Given the description of an element on the screen output the (x, y) to click on. 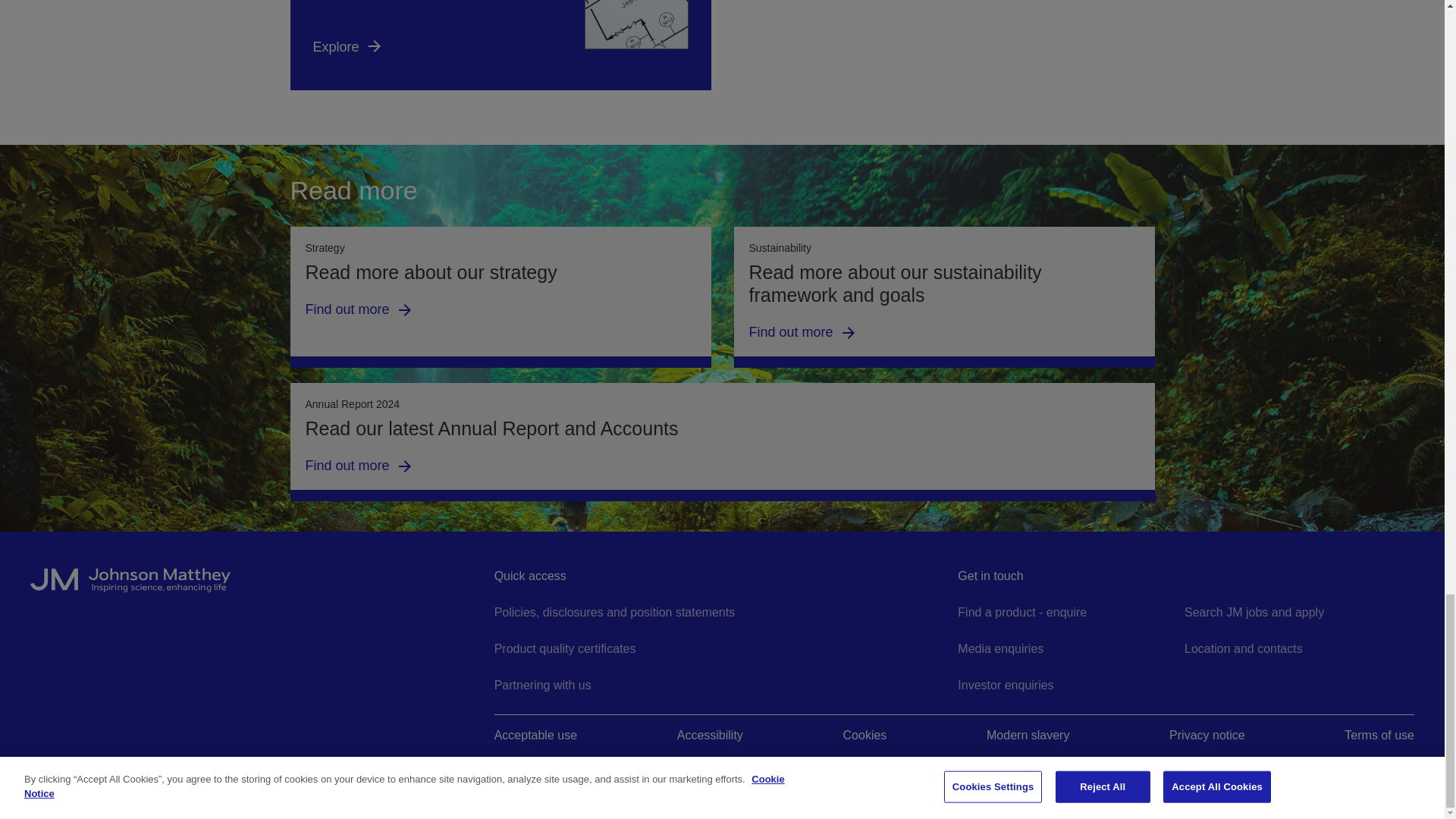
Process licensing (499, 45)
Johnson Matthey (258, 587)
